Given the description of an element on the screen output the (x, y) to click on. 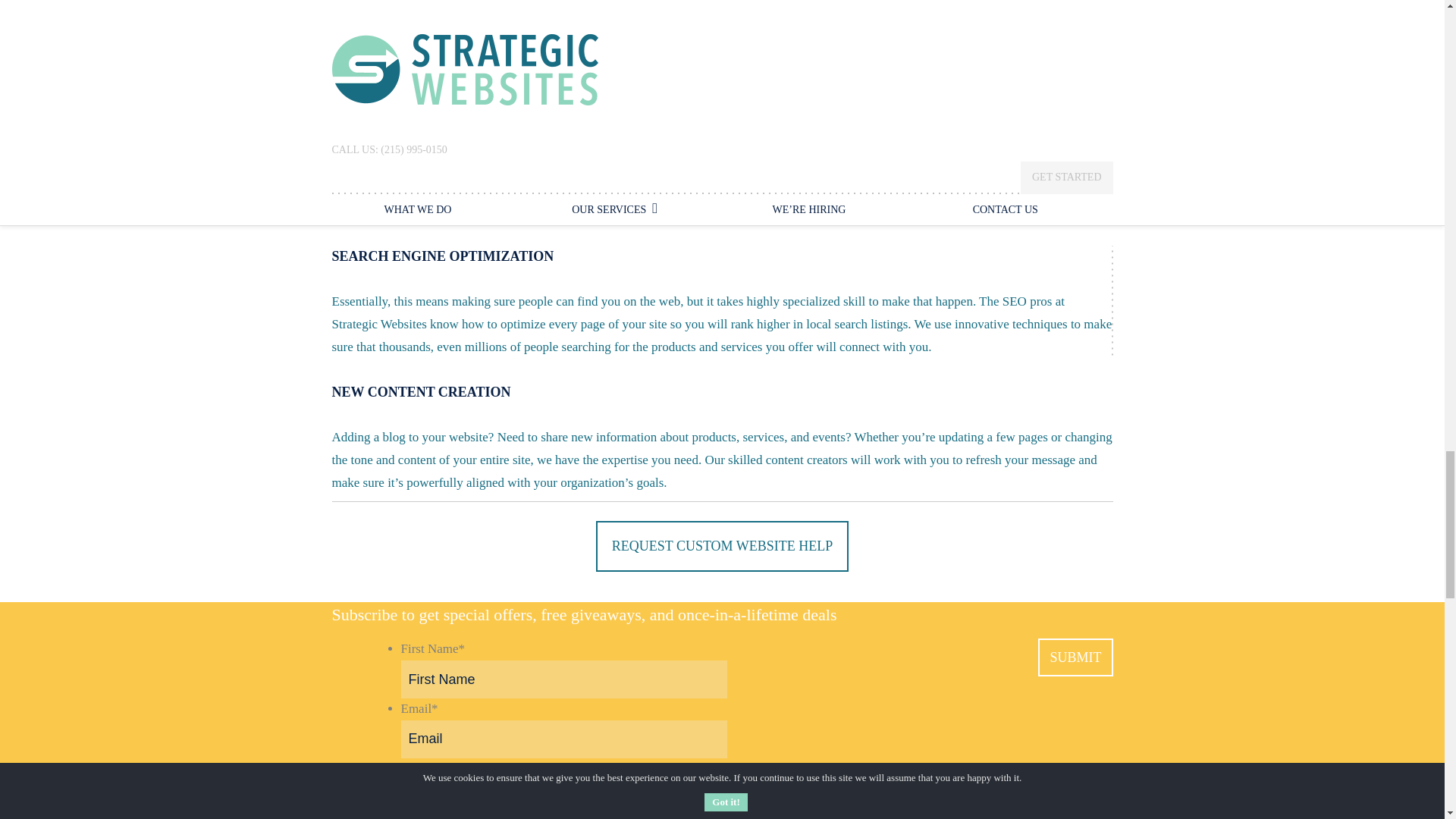
Submit (1075, 657)
Submit (1075, 657)
REQUEST CUSTOM WEBSITE HELP (721, 545)
